Given the description of an element on the screen output the (x, y) to click on. 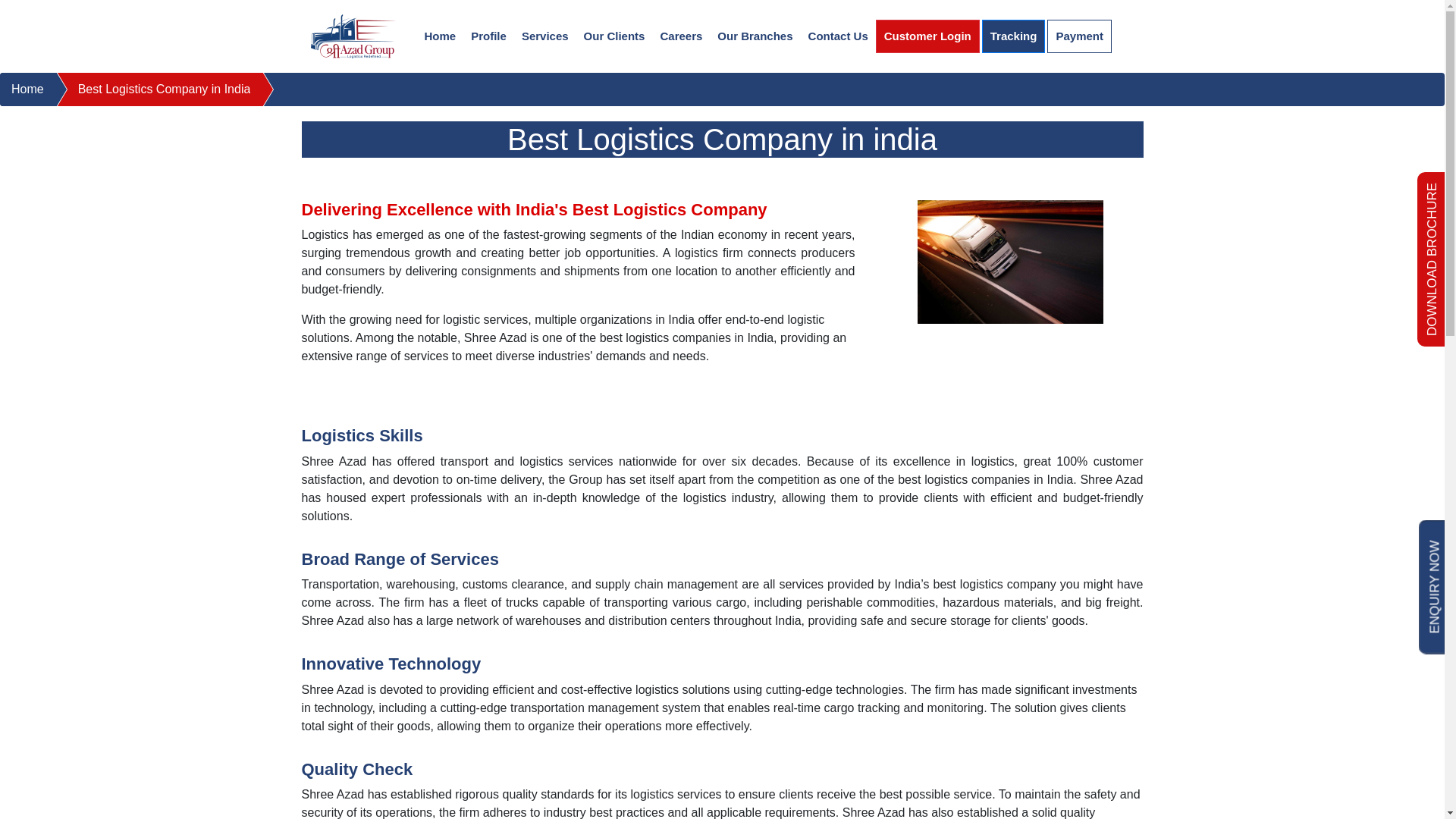
Home (440, 36)
Best Logistics Company in India (146, 89)
Tracking (1013, 36)
Payment (1079, 36)
Our Clients (614, 36)
Our Branches (754, 36)
Services (544, 36)
Home (21, 89)
Customer Login (927, 36)
Contact Us (838, 36)
